Given the description of an element on the screen output the (x, y) to click on. 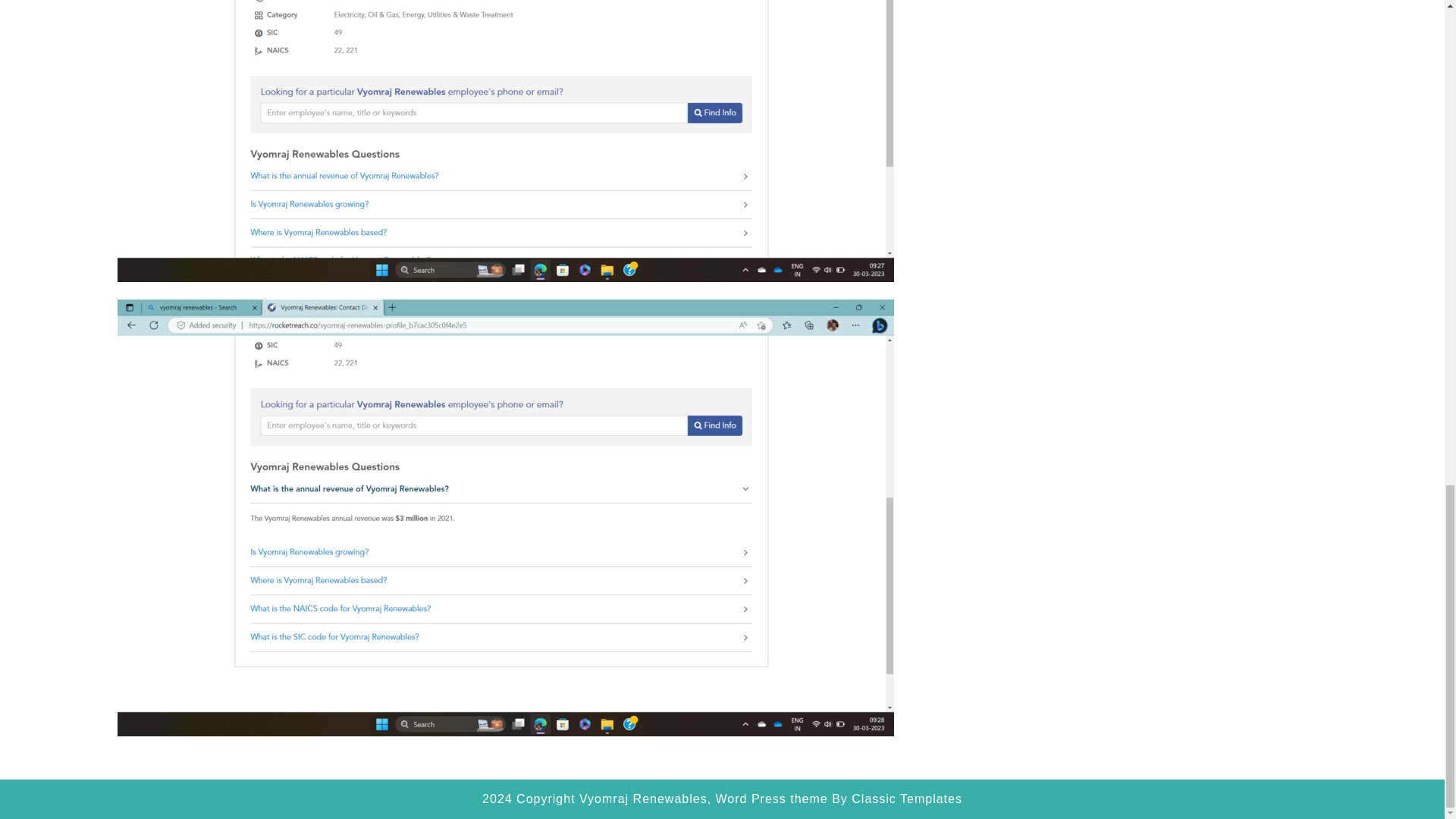
2024 Copyright Vyomraj Renewables, Word Press theme (654, 798)
